Given the description of an element on the screen output the (x, y) to click on. 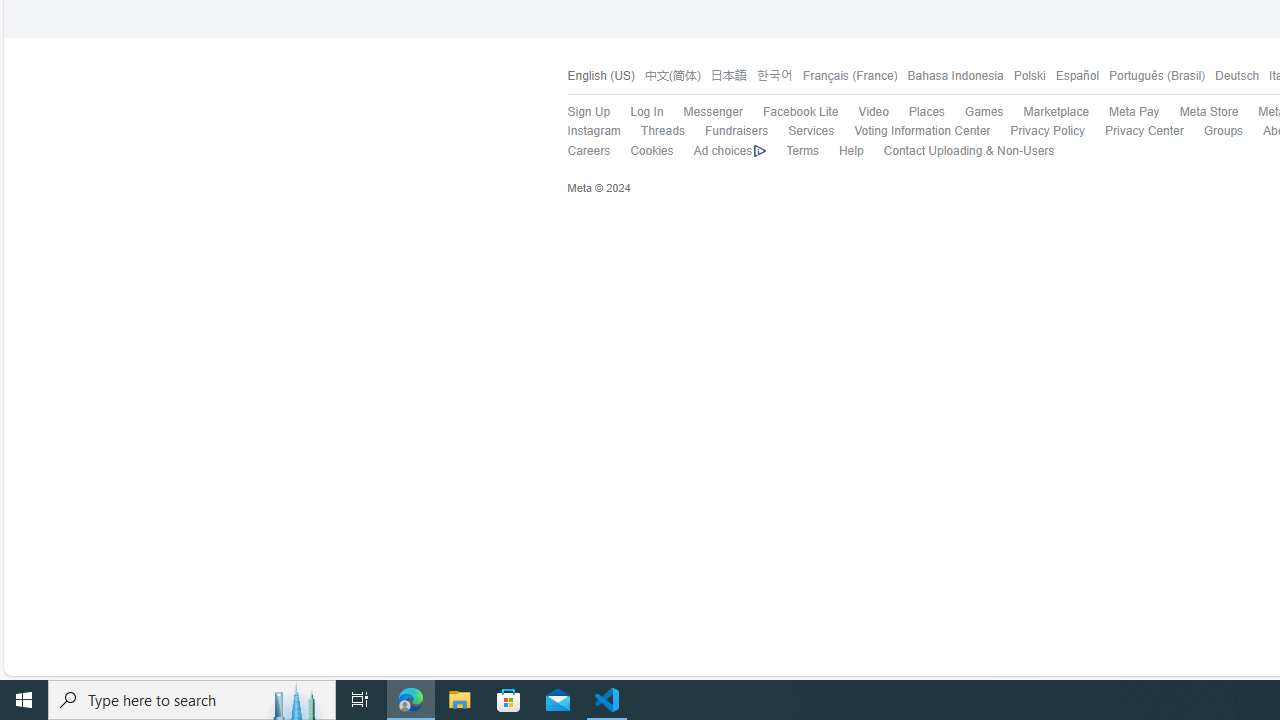
Threads (662, 130)
Groups (1213, 131)
Facebook Lite (799, 112)
Groups (1223, 130)
Fundraisers (726, 131)
Log In (646, 112)
Contact Uploading & Non-Users (968, 150)
Marketplace (1055, 112)
Instagram (583, 131)
Messenger (712, 112)
Deutsch (1231, 75)
Instagram (593, 130)
